Given the description of an element on the screen output the (x, y) to click on. 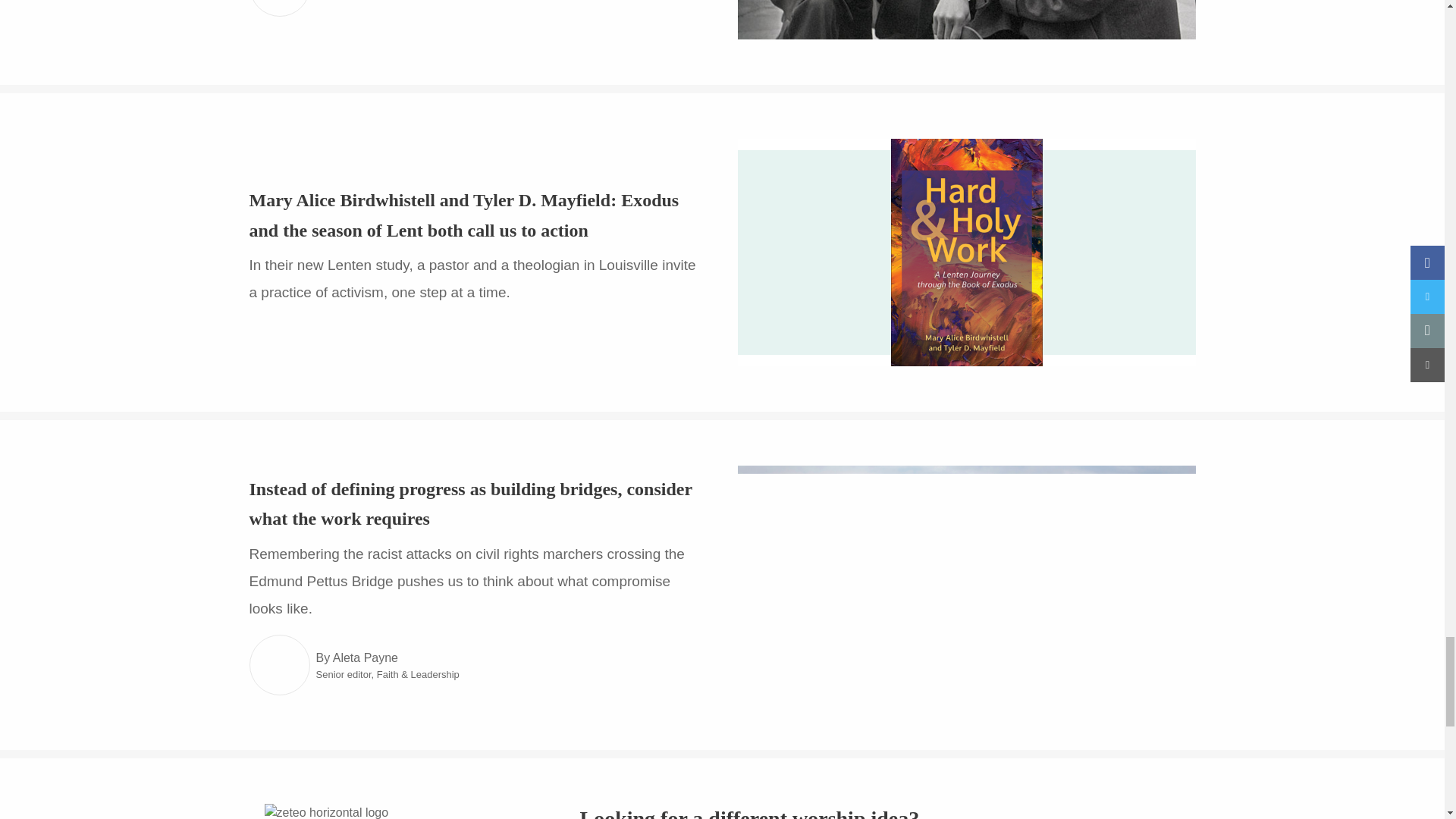
Link to author Michelle T. Sanchez (278, 8)
Link to author Aleta Payne (278, 664)
Looking for a different worship idea? (748, 812)
